Given the description of an element on the screen output the (x, y) to click on. 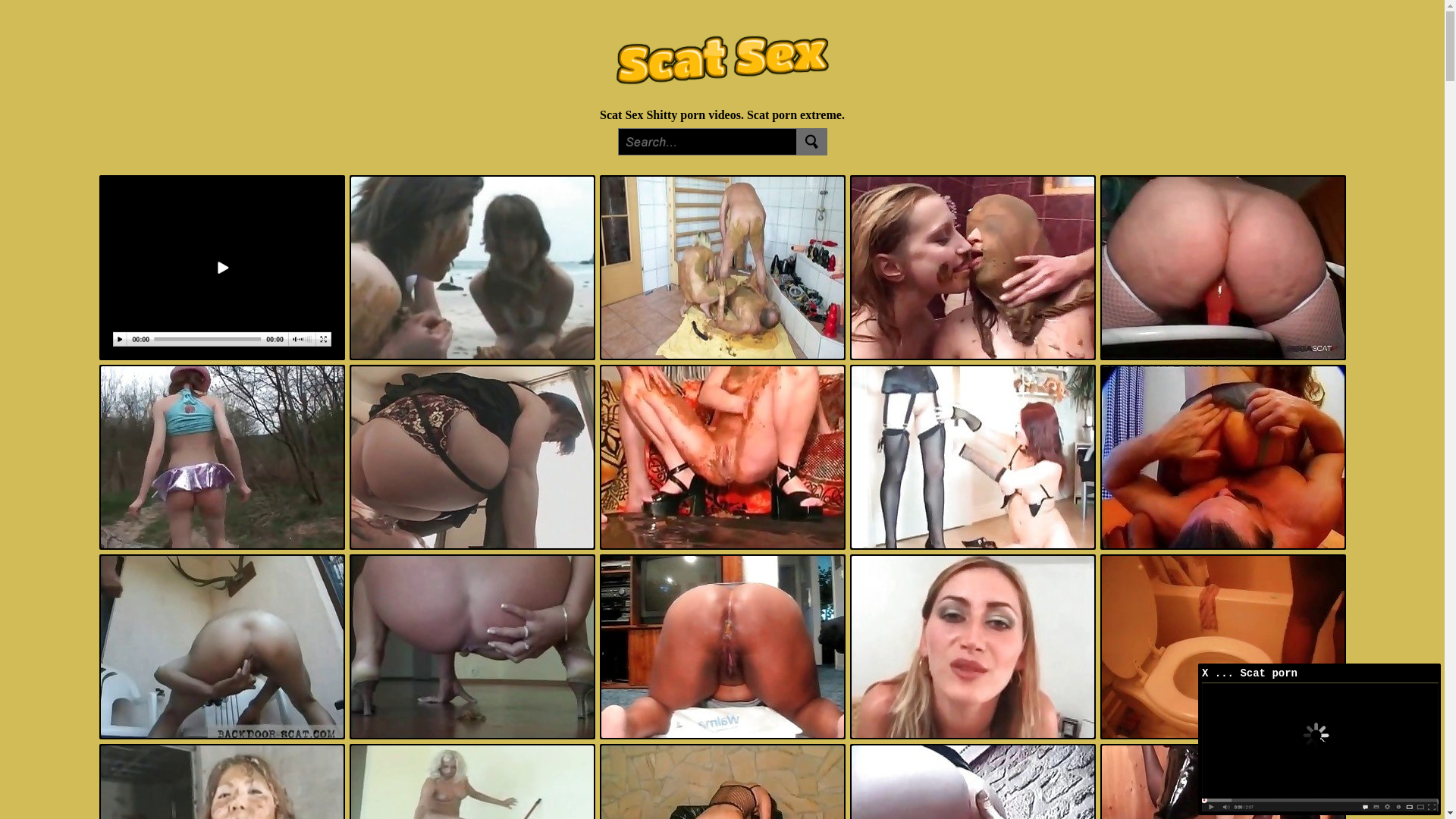
  Element type: hover (1319, 806)
X ... Scat porn Element type: text (1319, 674)
Scat Sex Shitty porn videos. Scat porn extreme. Element type: hover (722, 100)
Scat Sex Element type: text (621, 114)
Search cruel porn here Element type: hover (721, 150)
